Given the description of an element on the screen output the (x, y) to click on. 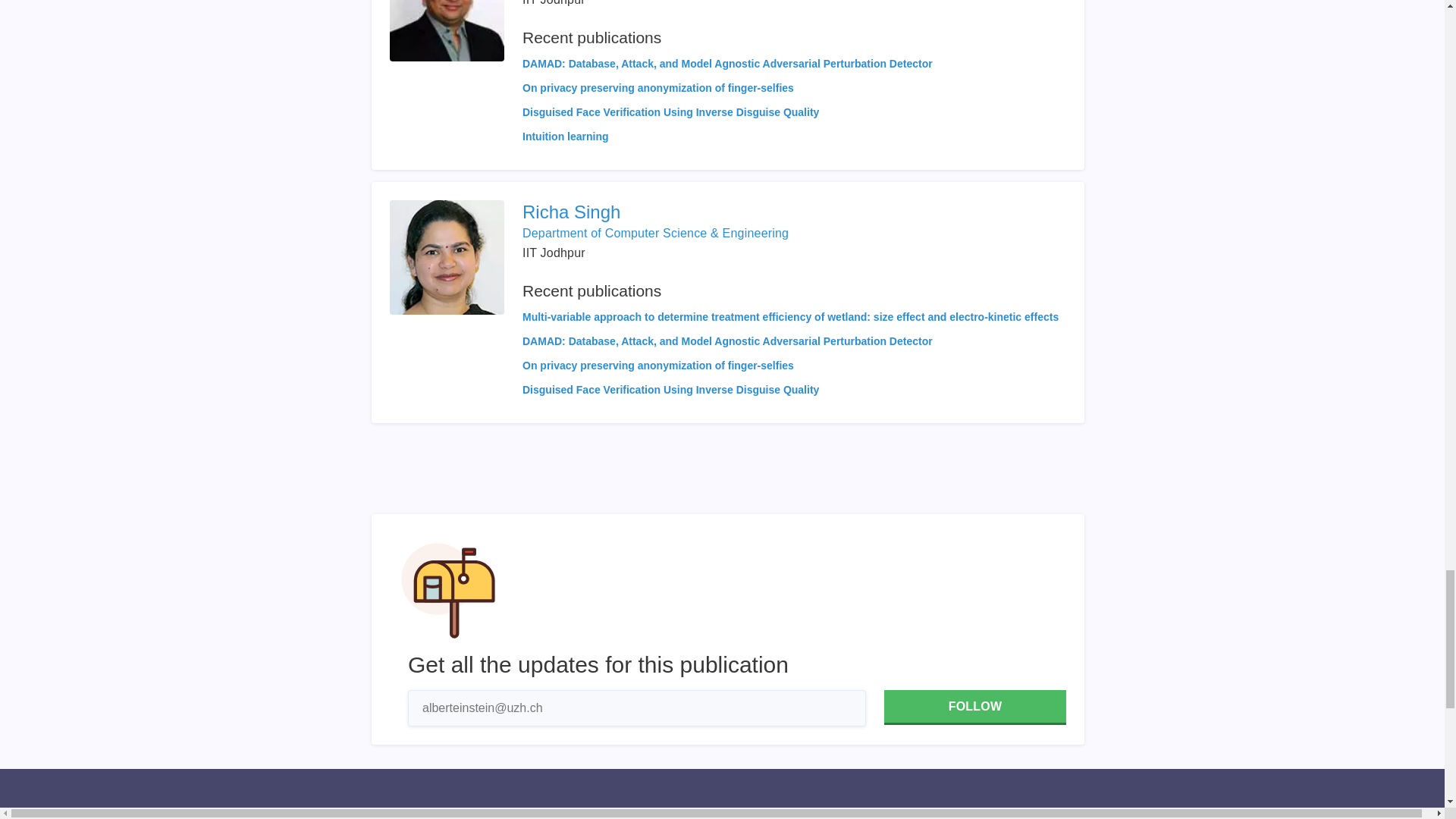
On privacy preserving anonymization of finger-selfies (657, 87)
On privacy preserving anonymization of finger-selfies (657, 365)
FOLLOW (974, 707)
Disguised Face Verification Using Inverse Disguise Quality (670, 111)
Subscribe form hero illustration (448, 590)
Intuition learning (565, 136)
Disguised Face Verification Using Inverse Disguise Quality (670, 389)
Richa Singh (790, 211)
